Given the description of an element on the screen output the (x, y) to click on. 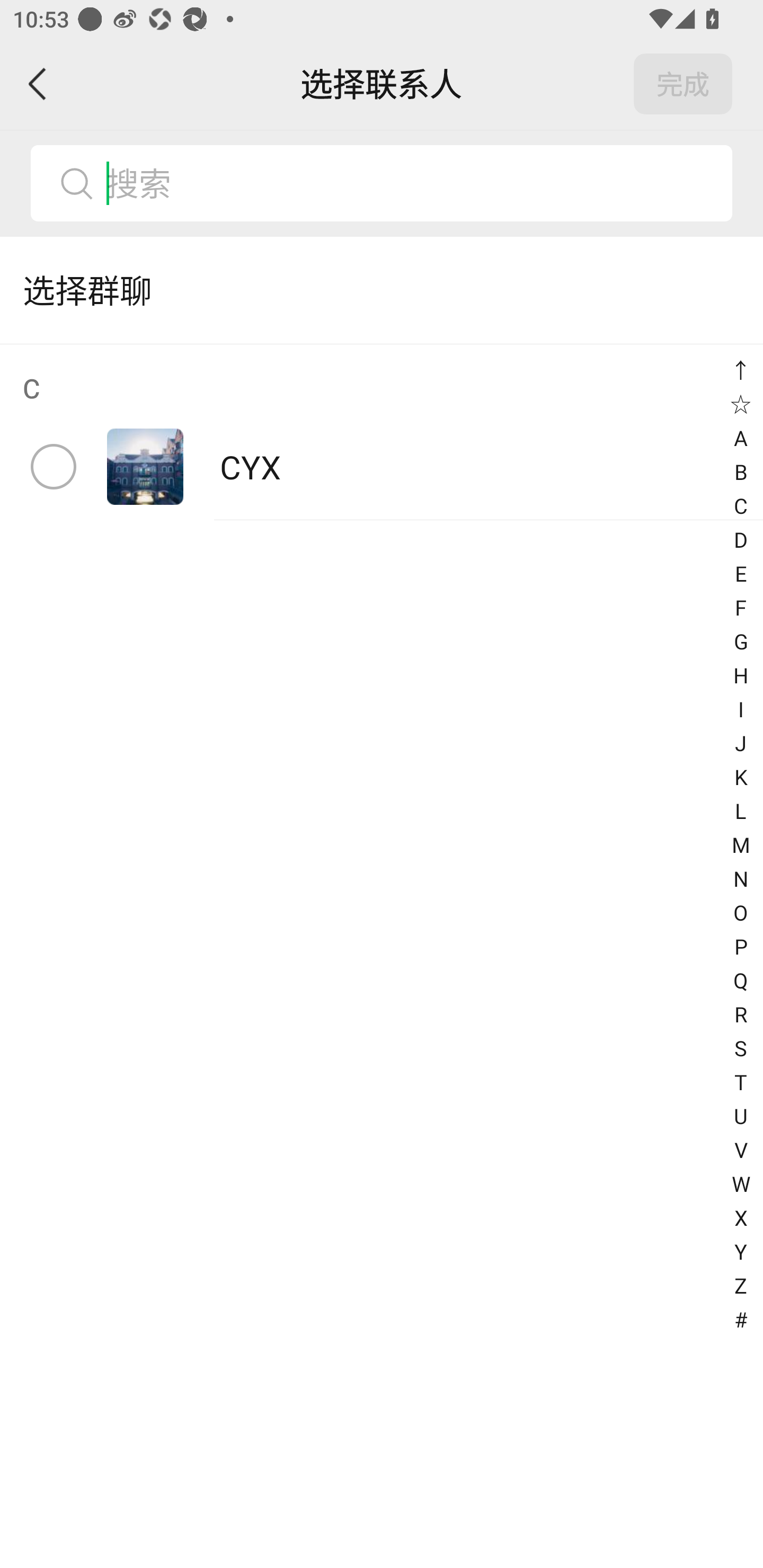
返回 (38, 83)
完成 (683, 83)
搜索 (381, 183)
搜索 (411, 183)
选择群聊 (381, 290)
C CYX (381, 432)
